Given the description of an element on the screen output the (x, y) to click on. 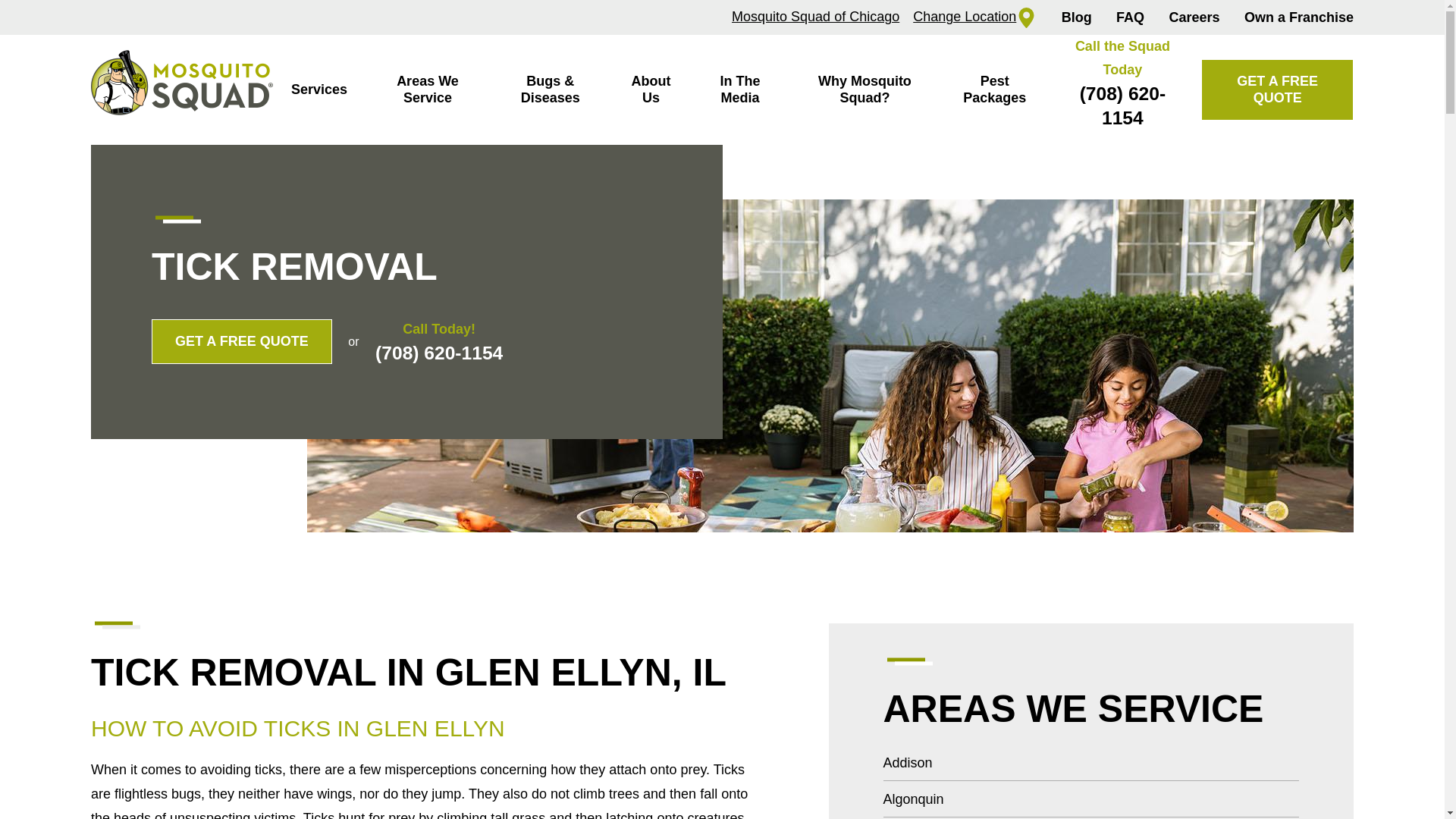
Own a Franchise (1299, 17)
Blog (1076, 17)
Mosquito Squad of Chicago (815, 17)
Change Location (974, 17)
Areas We Service (427, 89)
Services (319, 89)
FAQ (1130, 17)
Careers (1194, 17)
